Given the description of an element on the screen output the (x, y) to click on. 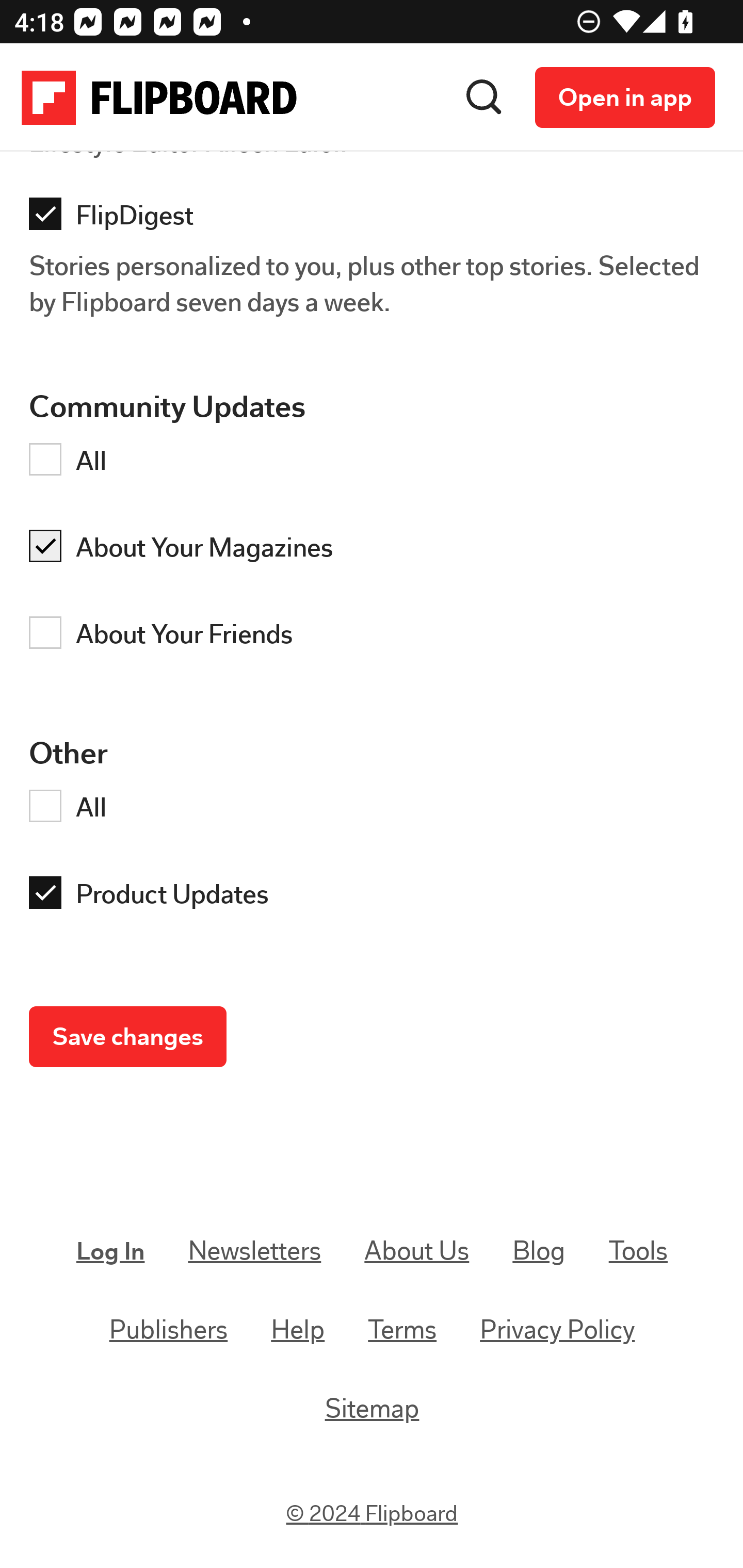
Open in app (625, 97)
Search (484, 97)
checkmark FlipDigest (376, 219)
All (376, 464)
checkmark About Your Magazines (376, 550)
About Your Friends (376, 637)
All (376, 810)
checkmark Product Updates (376, 898)
Save changes (127, 1038)
Newsletters (255, 1251)
About Us (416, 1251)
Blog (538, 1251)
Tools (638, 1251)
Log In (110, 1252)
Publishers (168, 1331)
Help (298, 1331)
Terms (401, 1331)
Privacy Policy (556, 1331)
Sitemap (371, 1408)
© 2024Flipboard ©  2024 Flipboard (372, 1514)
